Given the description of an element on the screen output the (x, y) to click on. 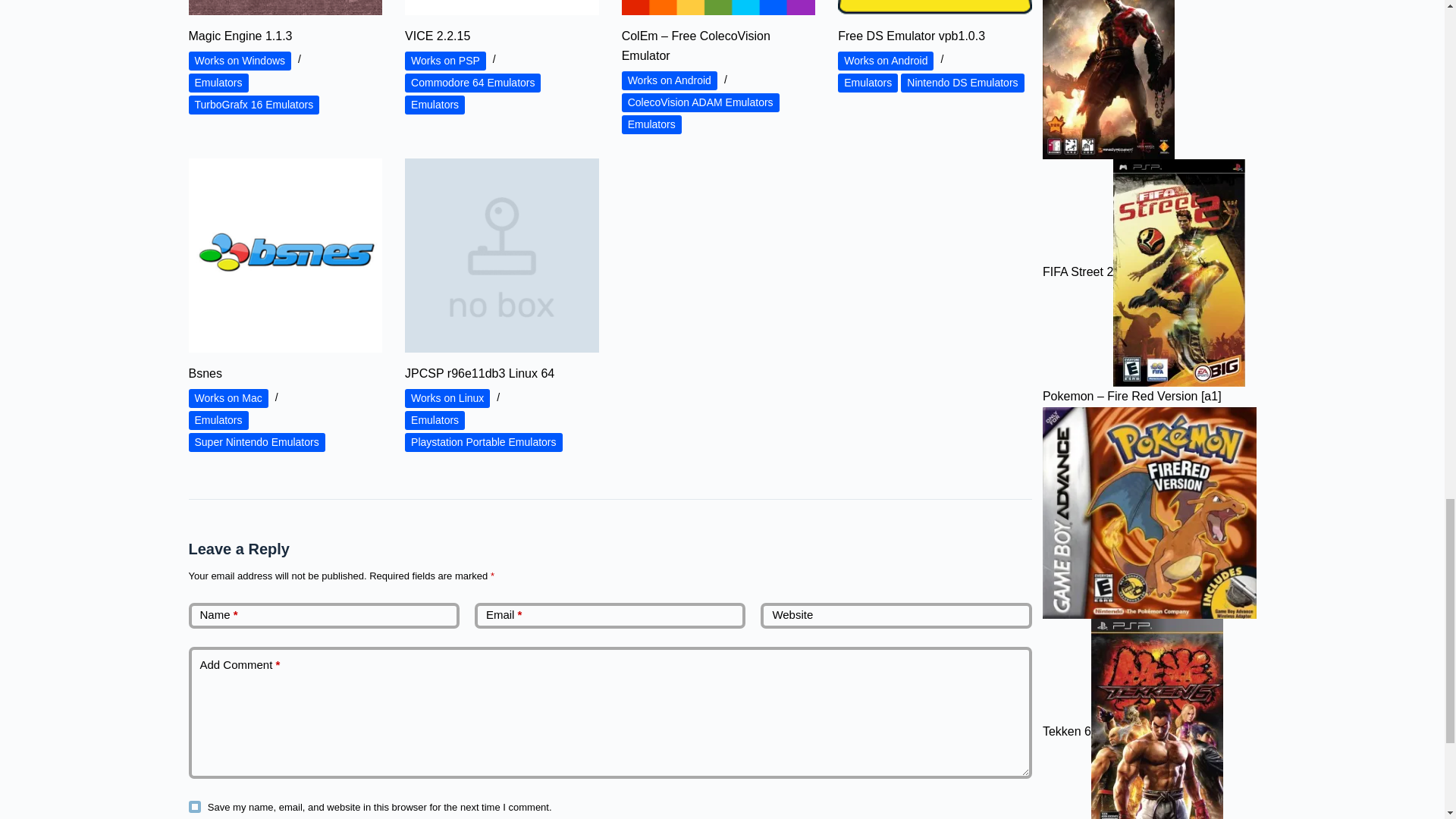
FIFA Street 2 (1178, 272)
yes (193, 806)
God Of War - Ghost Of Sparta (1108, 79)
Tekken 6 (1156, 719)
